Given the description of an element on the screen output the (x, y) to click on. 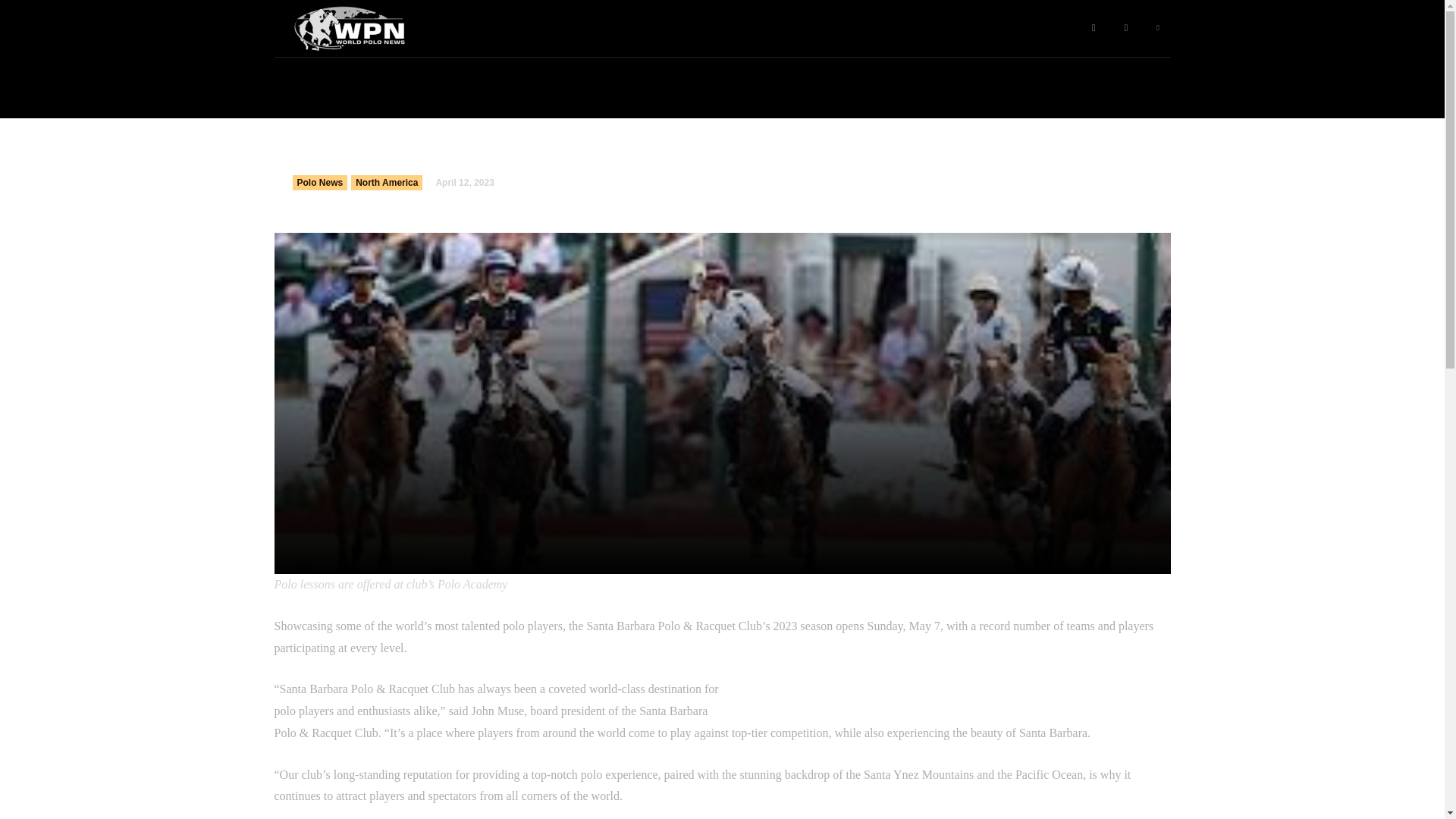
North America (386, 182)
Polo News (319, 182)
